Given the description of an element on the screen output the (x, y) to click on. 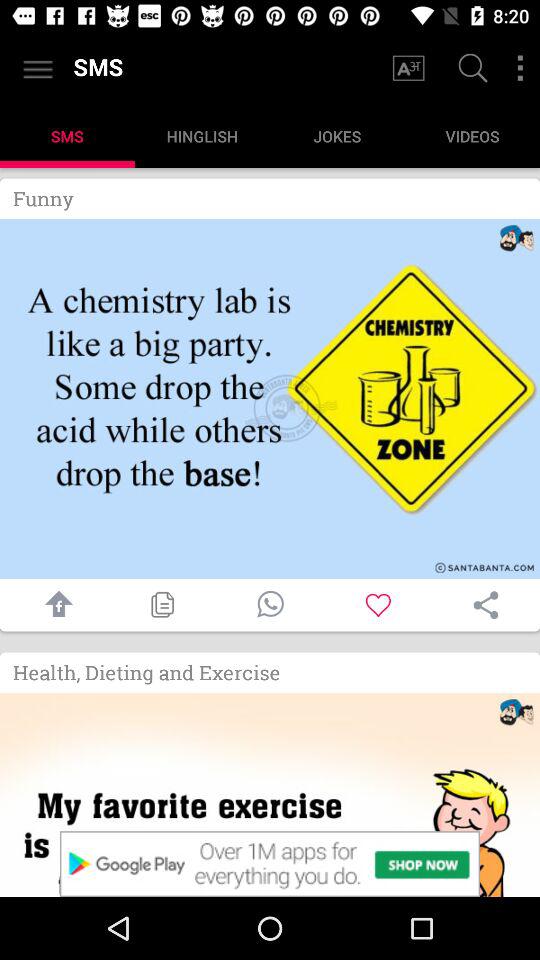
share the image on whatsapp (270, 604)
